Given the description of an element on the screen output the (x, y) to click on. 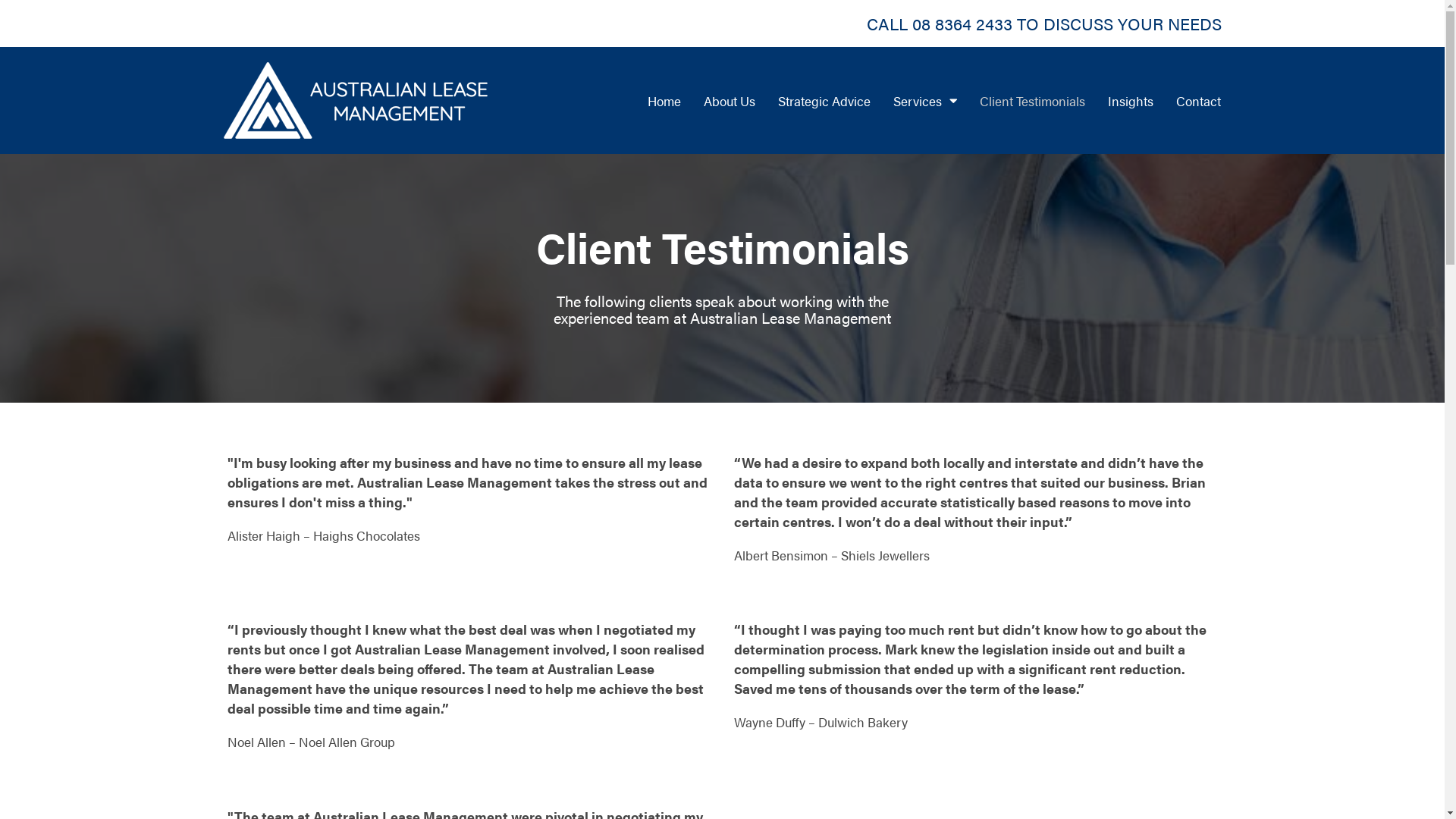
About Us Element type: text (729, 100)
Services Element type: text (925, 100)
Strategic Advice Element type: text (824, 100)
Insights Element type: text (1130, 100)
Home Element type: text (663, 100)
08 8364 2433 Element type: text (961, 23)
Contact Element type: text (1198, 100)
Client Testimonials Element type: text (1032, 100)
